Given the description of an element on the screen output the (x, y) to click on. 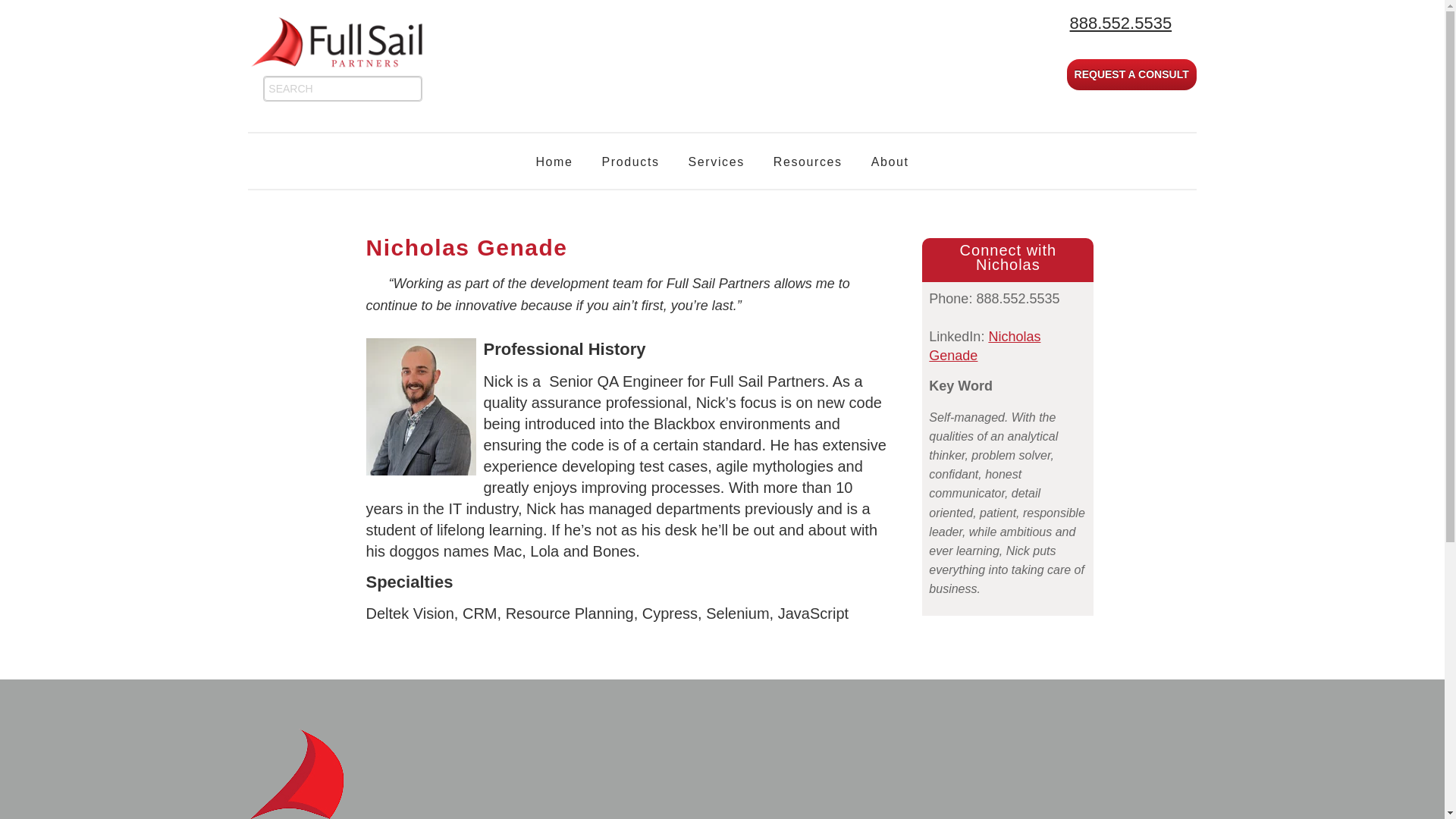
Products (630, 161)
888.552.5535 (1119, 22)
Home (553, 161)
REQUEST A CONSULT (1131, 74)
Nicholas Genade (984, 346)
Services (716, 161)
Footer-Logo (295, 773)
About (889, 161)
Resources (808, 161)
logo6 (342, 43)
Request A Consult (1131, 74)
